Given the description of an element on the screen output the (x, y) to click on. 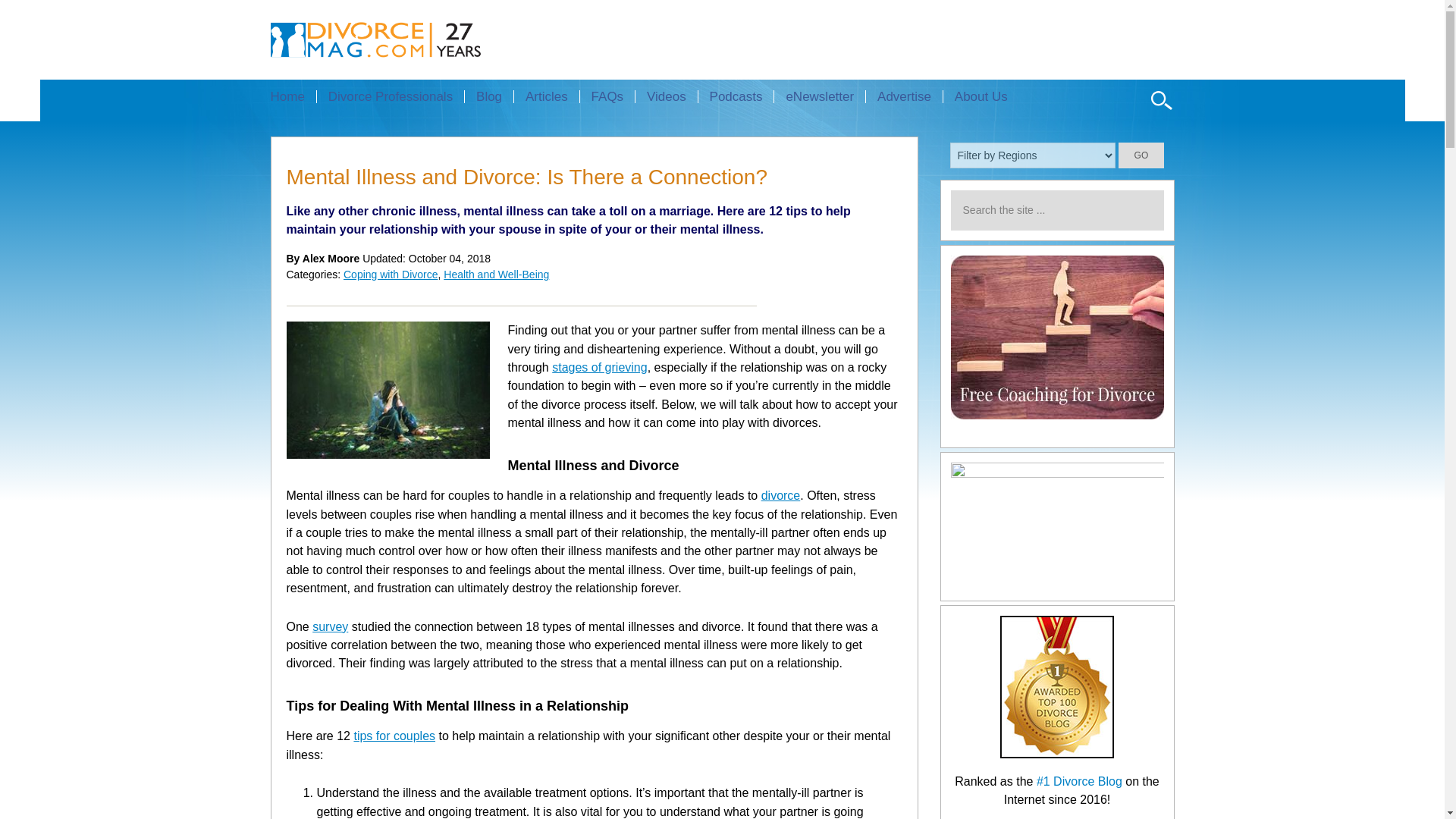
Home (292, 96)
FAQs (606, 96)
Divorce Magazine (401, 39)
eNewsletter (818, 96)
Blog (488, 96)
Podcasts (735, 96)
Articles (546, 96)
Videos (665, 96)
Divorce Professionals (389, 96)
